Given the description of an element on the screen output the (x, y) to click on. 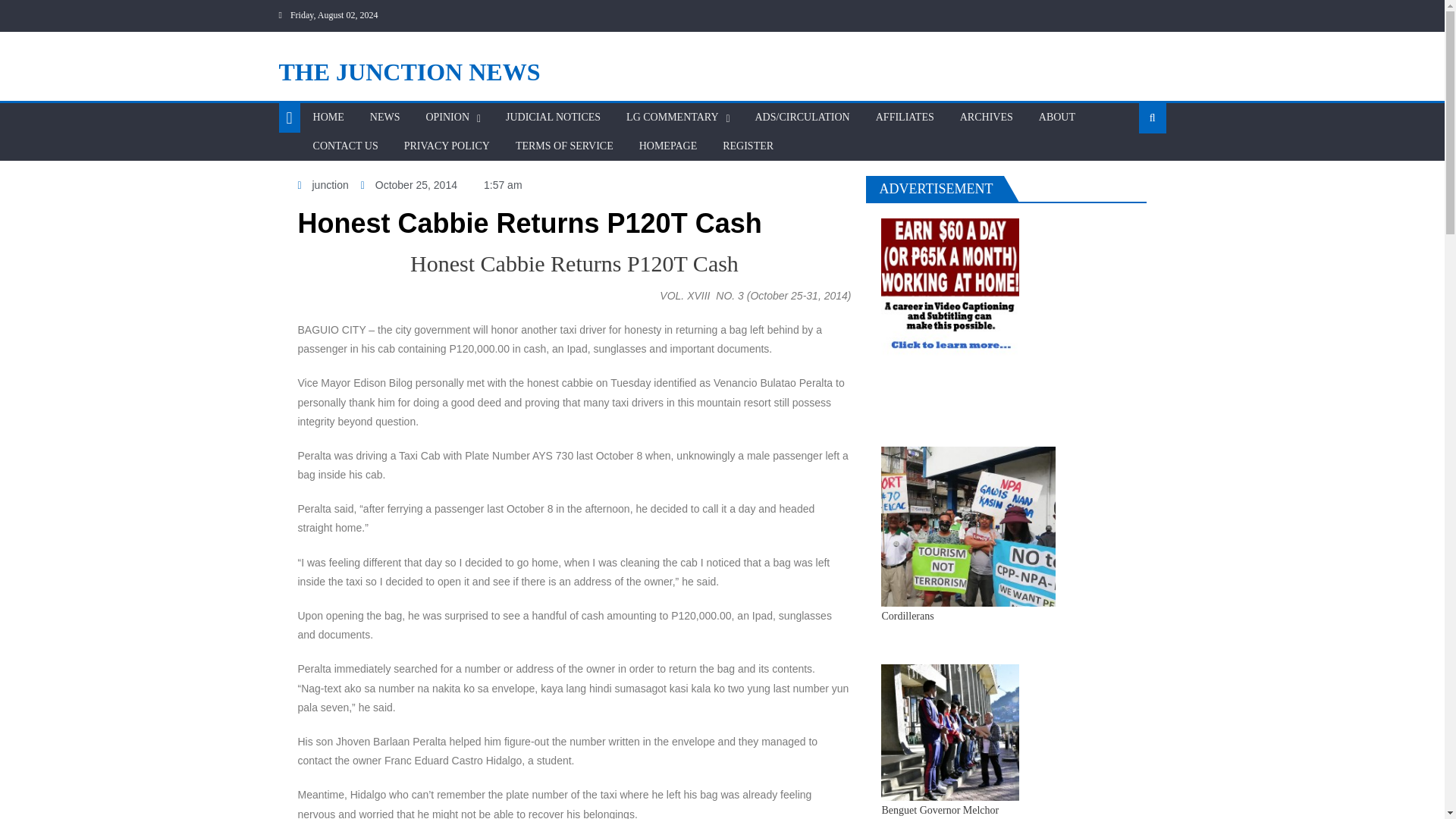
LG COMMENTARY (671, 117)
ARCHIVES (987, 117)
NEWS (385, 117)
ABOUT (1056, 117)
HOMEPAGE (668, 145)
OPINION (446, 117)
HOME (328, 117)
Search (1128, 166)
JUDICIAL NOTICES (553, 117)
THE JUNCTION NEWS (409, 71)
PRIVACY POLICY (446, 145)
AFFILIATES (904, 117)
October 25, 2014 (409, 185)
REGISTER (747, 145)
TERMS OF SERVICE (563, 145)
